Given the description of an element on the screen output the (x, y) to click on. 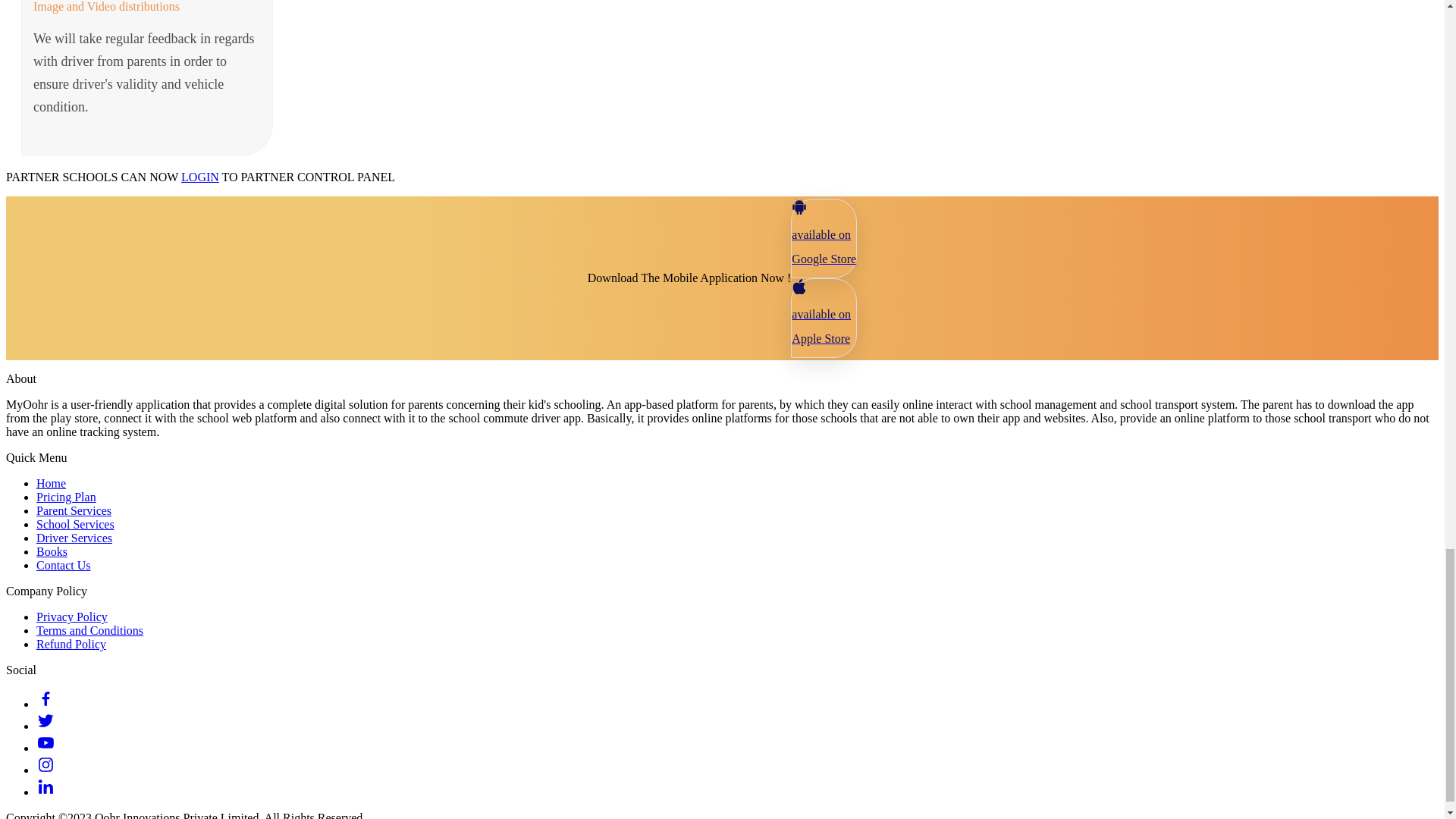
Parent Services (74, 510)
Contact Us (63, 564)
Driver Services (74, 537)
Pricing Plan (66, 496)
LOGIN (199, 176)
Privacy Policy (71, 616)
Terms and Conditions (89, 630)
Home (50, 482)
Books (51, 551)
Refund Policy (71, 644)
